Given the description of an element on the screen output the (x, y) to click on. 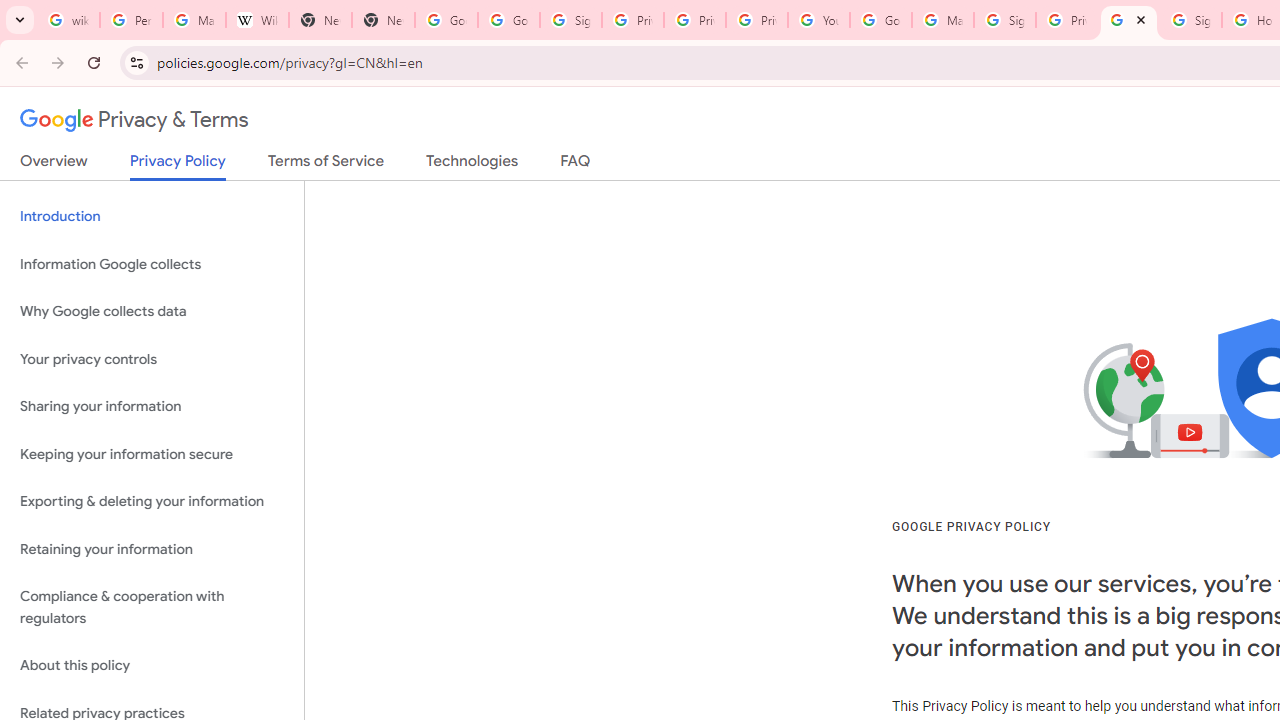
Sign in - Google Accounts (570, 20)
Google Drive: Sign-in (508, 20)
Google Account Help (880, 20)
New Tab (320, 20)
